Given the description of an element on the screen output the (x, y) to click on. 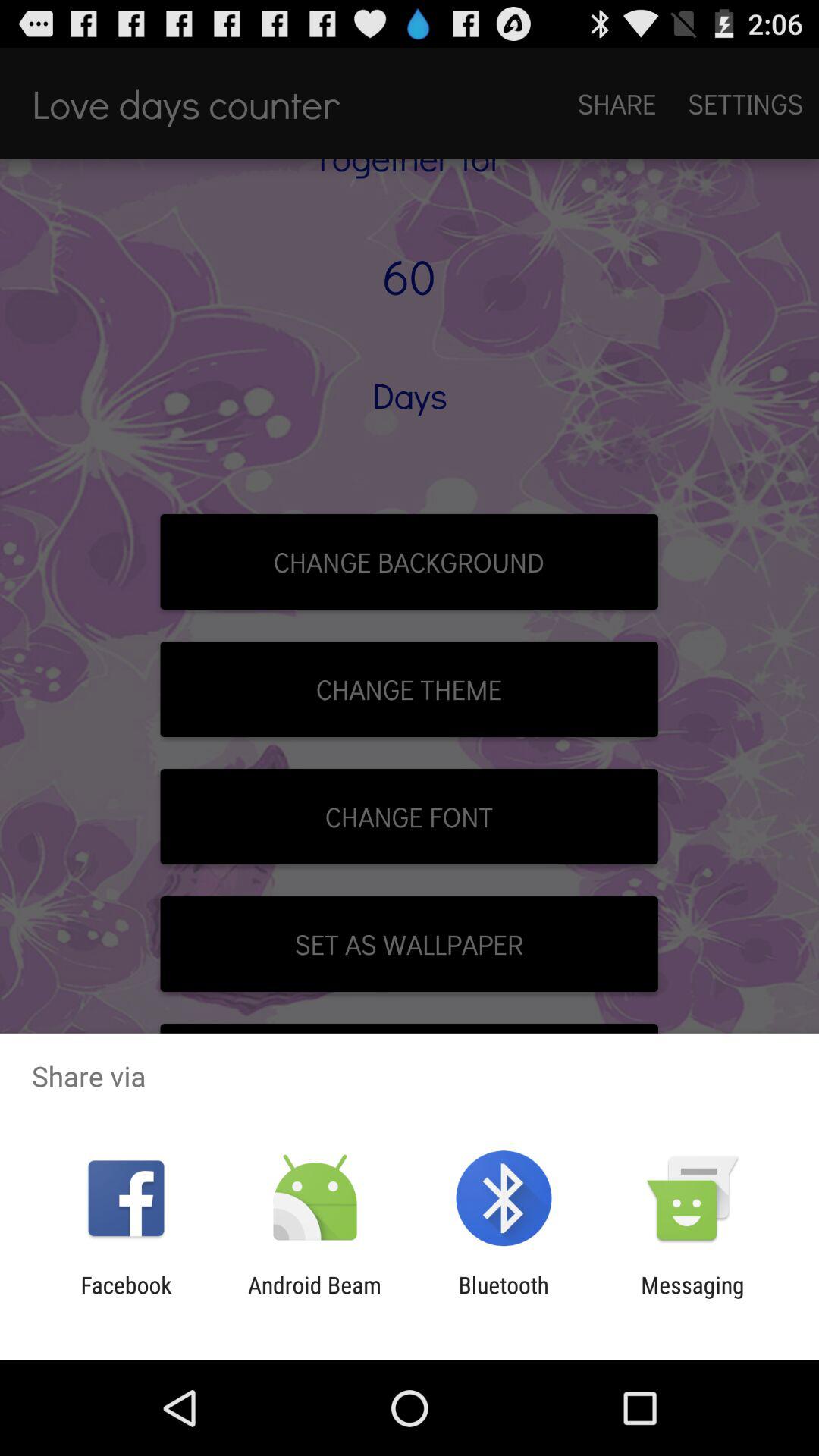
swipe to messaging (692, 1298)
